Given the description of an element on the screen output the (x, y) to click on. 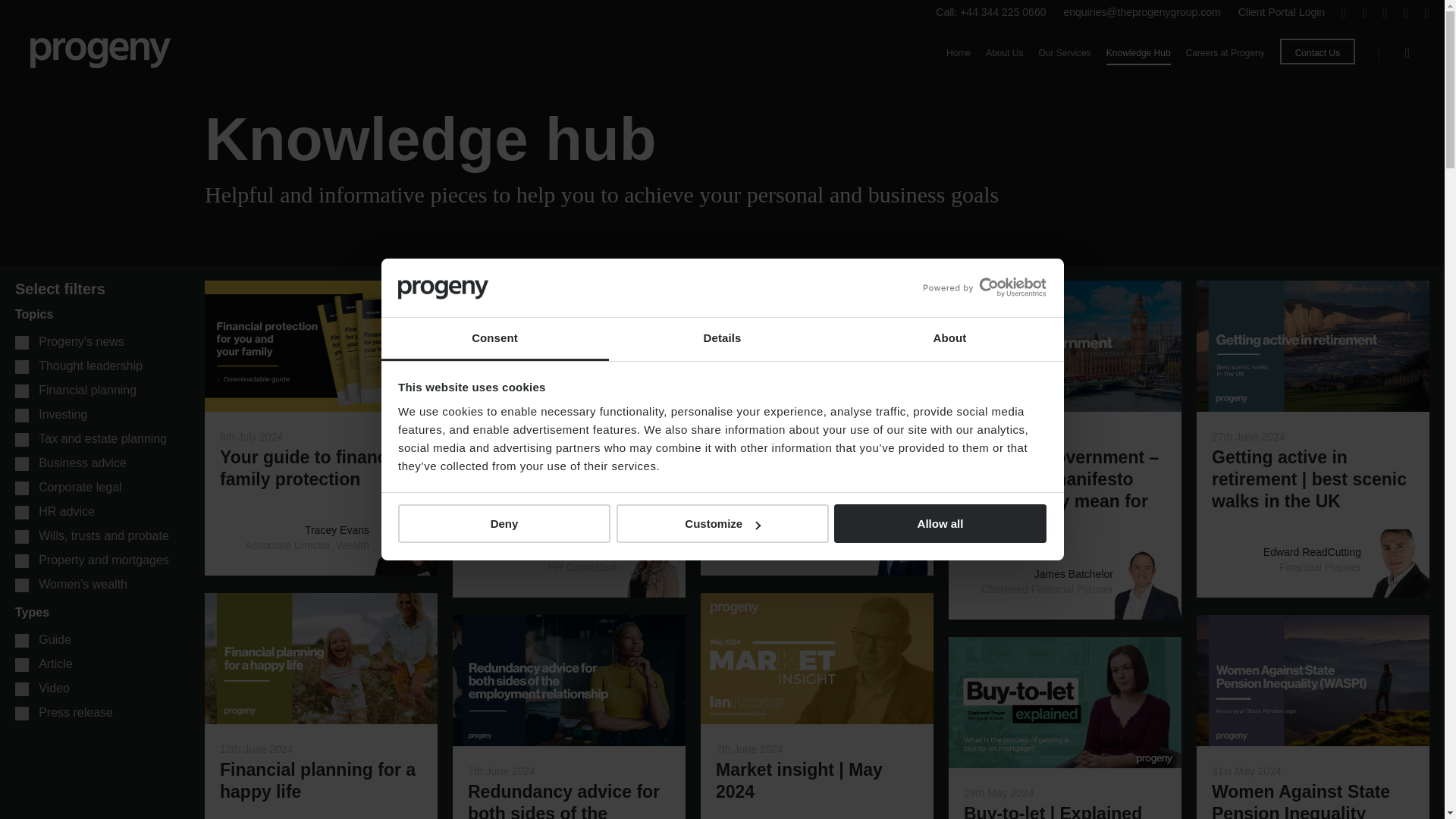
Consent (494, 339)
Details (721, 339)
About (948, 339)
